Given the description of an element on the screen output the (x, y) to click on. 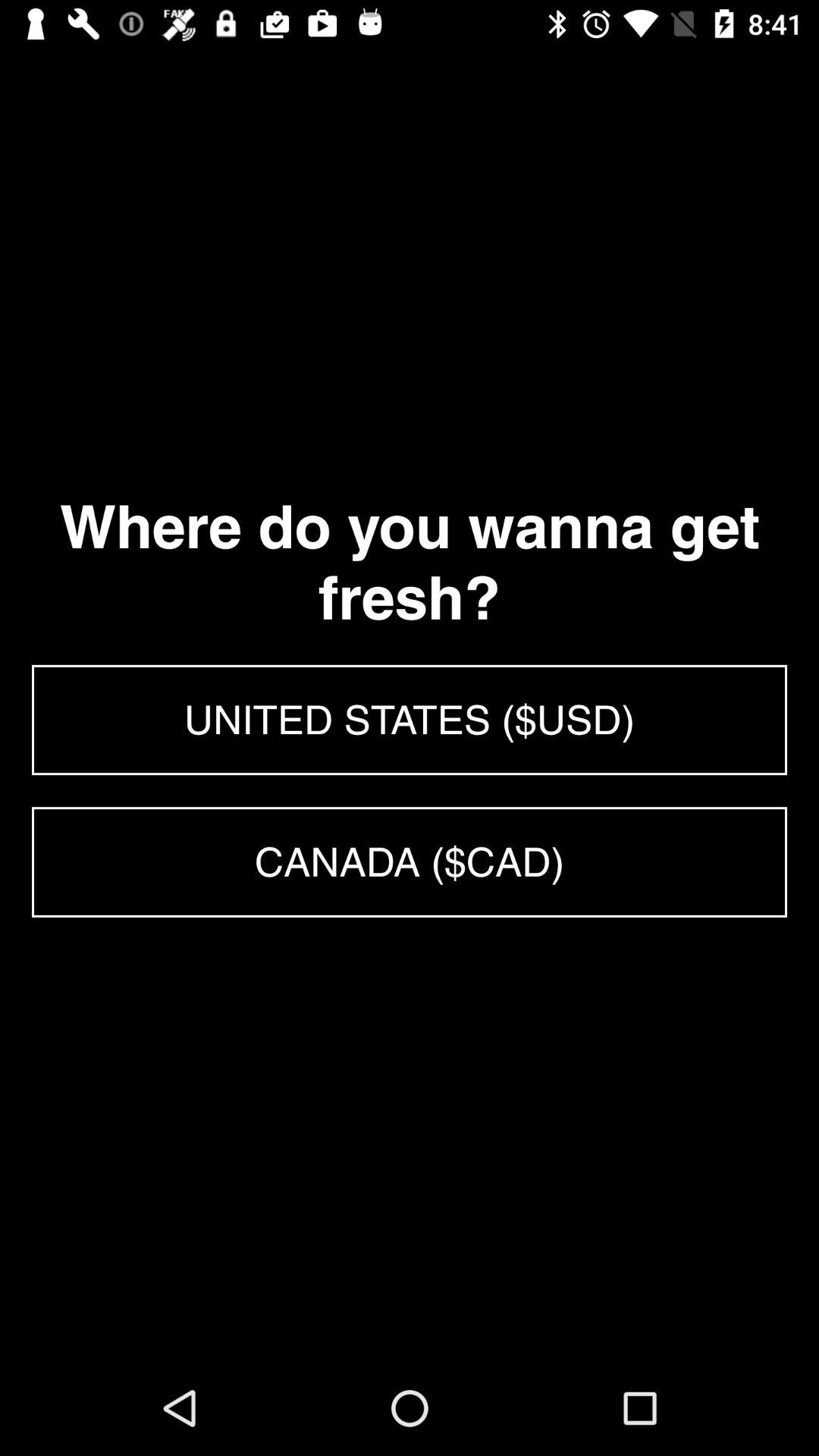
scroll until the canada ($cad) icon (409, 862)
